Given the description of an element on the screen output the (x, y) to click on. 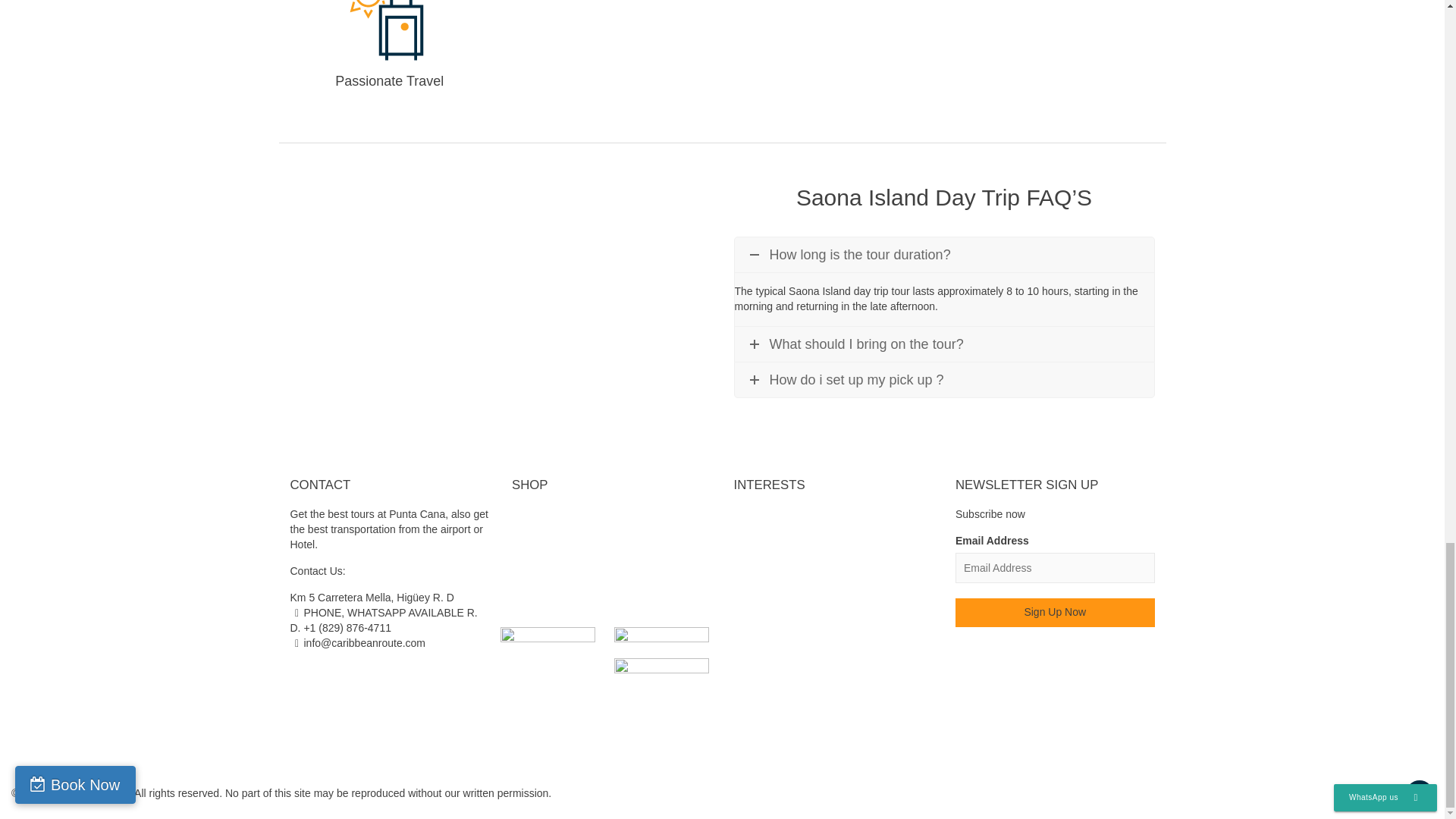
Destination guides (611, 514)
What should I bring on the tour? (943, 343)
eBooks (611, 529)
Saona Island Day Trip From Punta Cana by Caribbean Route (499, 287)
How long is the tour duration? (943, 254)
Sign Up Now (1054, 612)
How do i set up my pick up ? (943, 379)
